Given the description of an element on the screen output the (x, y) to click on. 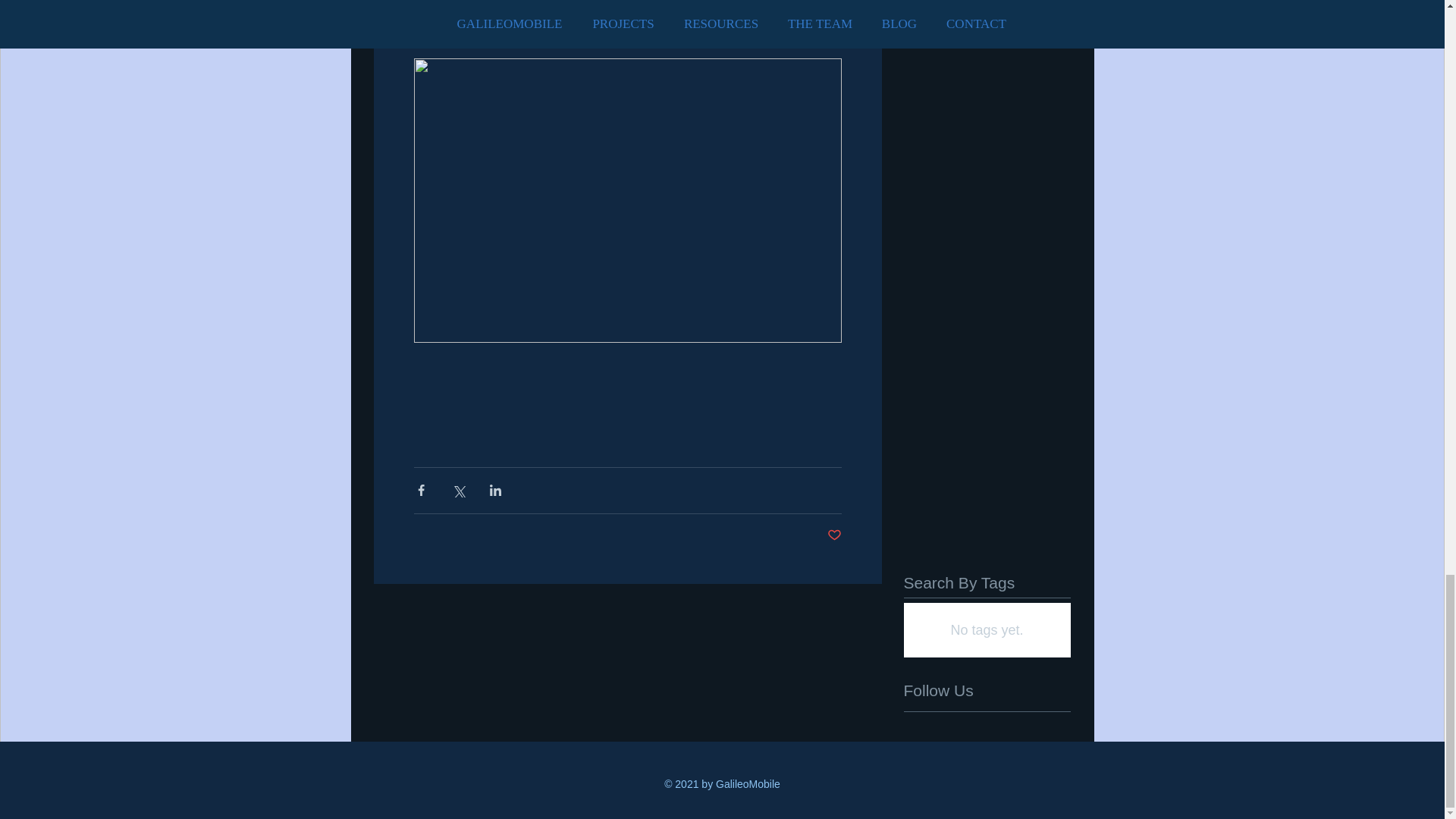
Post not marked as liked (834, 535)
